Given the description of an element on the screen output the (x, y) to click on. 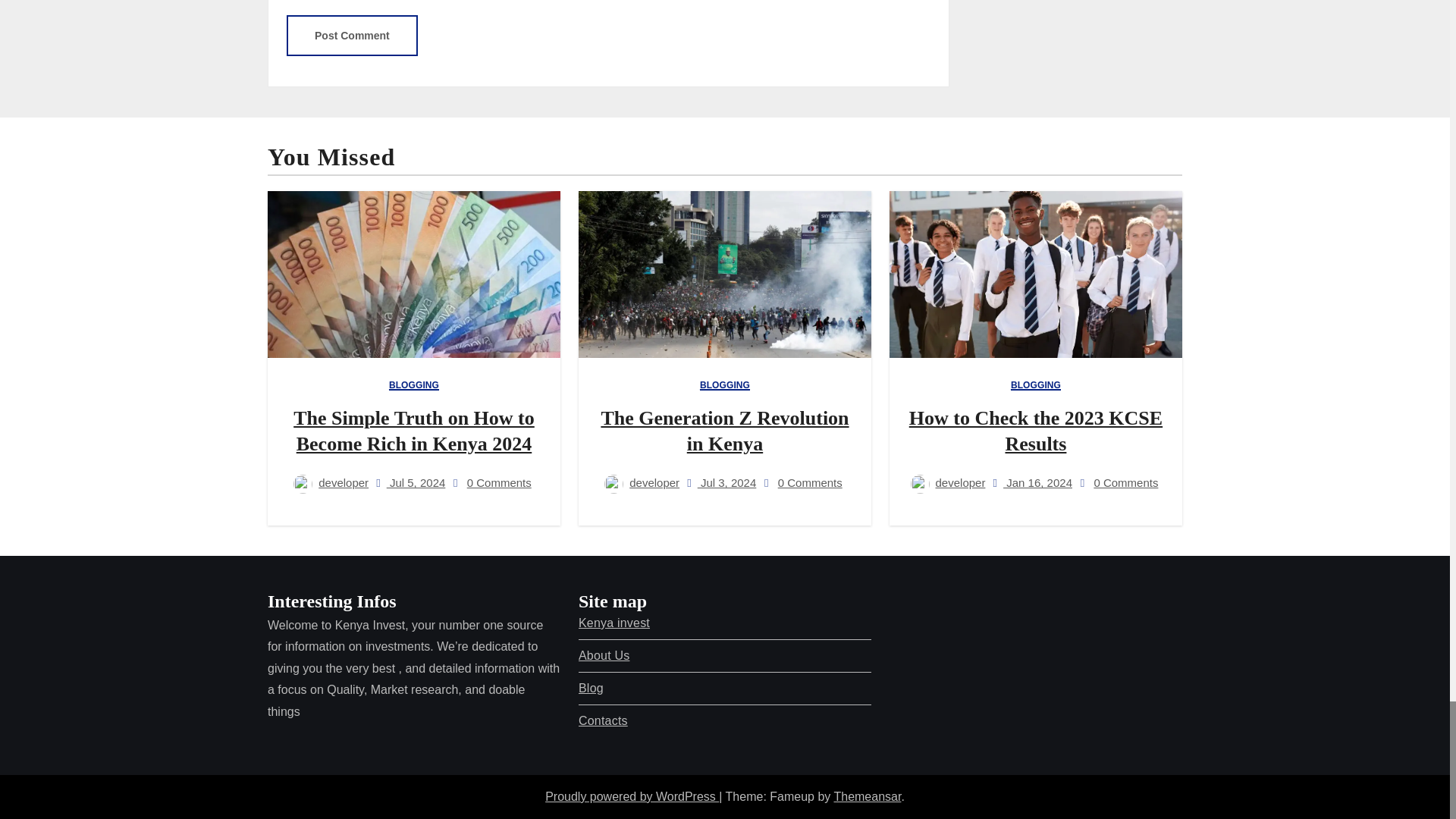
Permalink to: How to Check the 2023 KCSE Results (1034, 431)
Post Comment (351, 35)
Permalink to: The Generation Z Revolution in Kenya (723, 431)
